Given the description of an element on the screen output the (x, y) to click on. 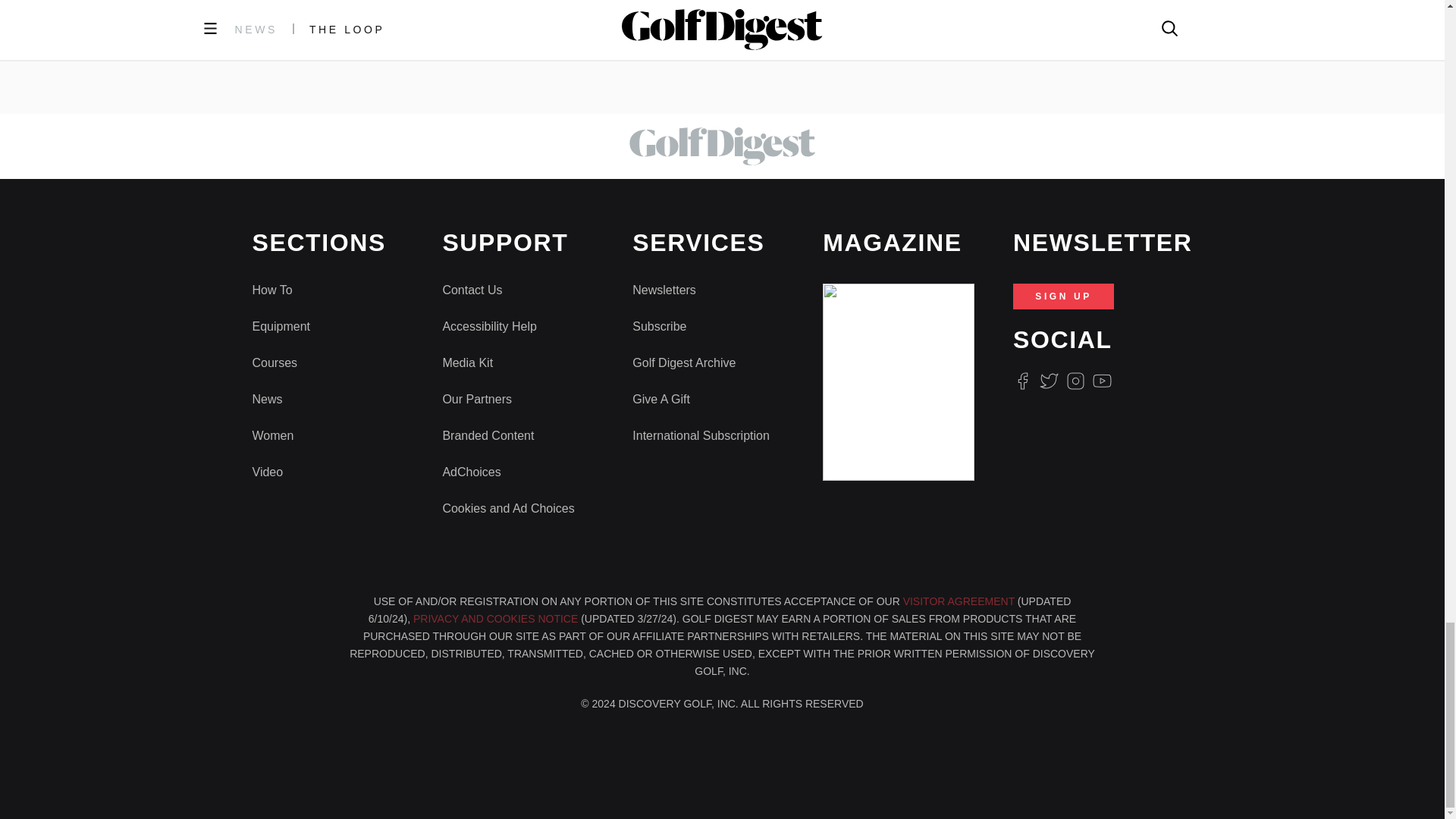
Twitter Logo (1048, 380)
Facebook Logo (1022, 380)
Instagram Logo (1074, 380)
Youtube Icon (1102, 380)
